Given the description of an element on the screen output the (x, y) to click on. 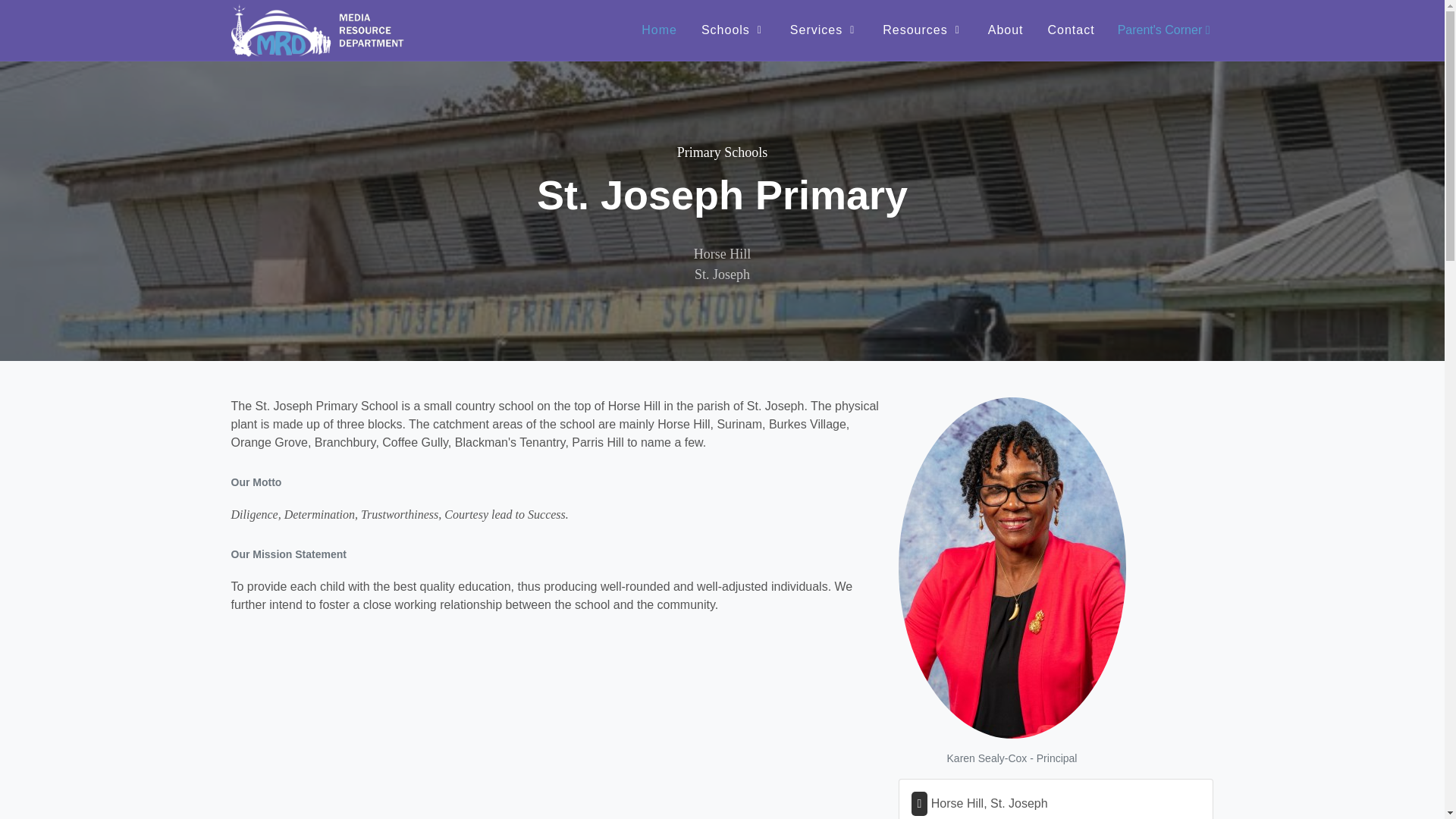
Services (823, 30)
Parent's Corner (1163, 30)
About (1005, 30)
Contact (1071, 30)
Resources (922, 30)
Primary Schools (722, 151)
Schools (733, 30)
Home (659, 30)
